Given the description of an element on the screen output the (x, y) to click on. 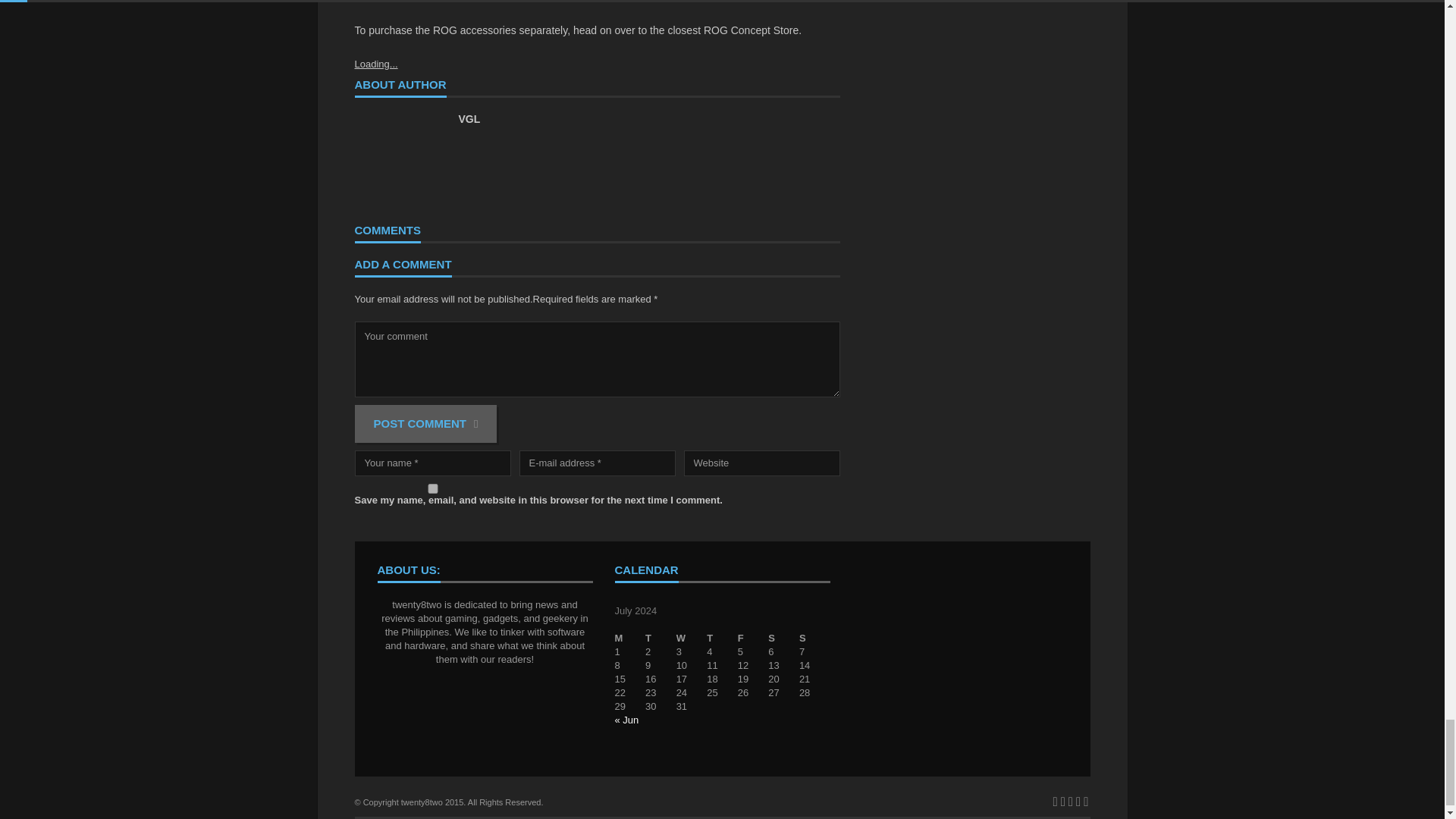
yes (433, 488)
